Given the description of an element on the screen output the (x, y) to click on. 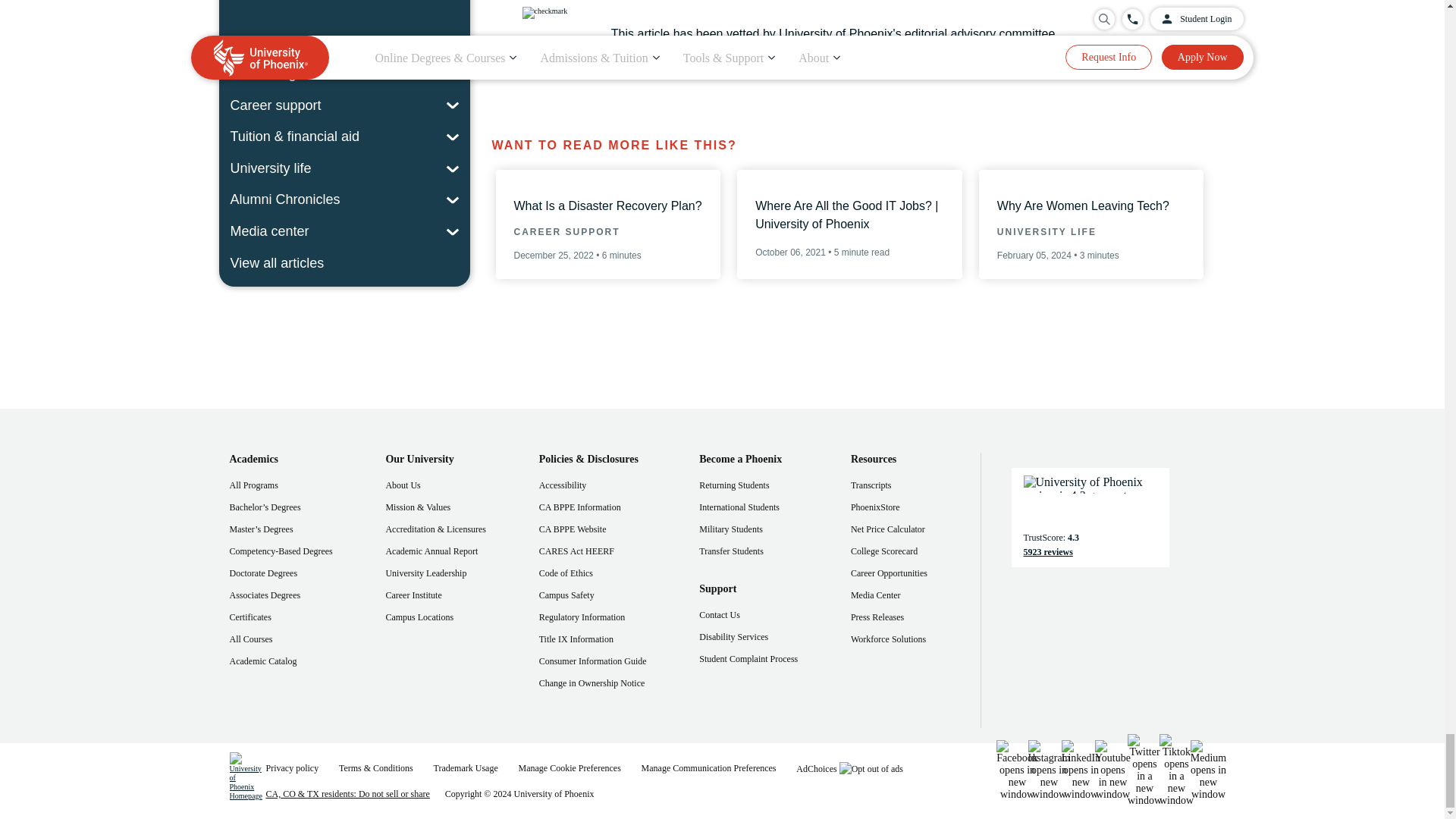
Connect to UOPX on Instagram (1048, 770)
Connect to UOPX on Twitter (1144, 770)
Connect to UOPX on Medium (1207, 770)
Connect to UOPX on Facebook (1016, 770)
Connect on UOPX Tiktok (1175, 770)
Connect to UOPX on YouTube (1112, 770)
Connect to UOPX on LinkedIn (1080, 770)
